Given the description of an element on the screen output the (x, y) to click on. 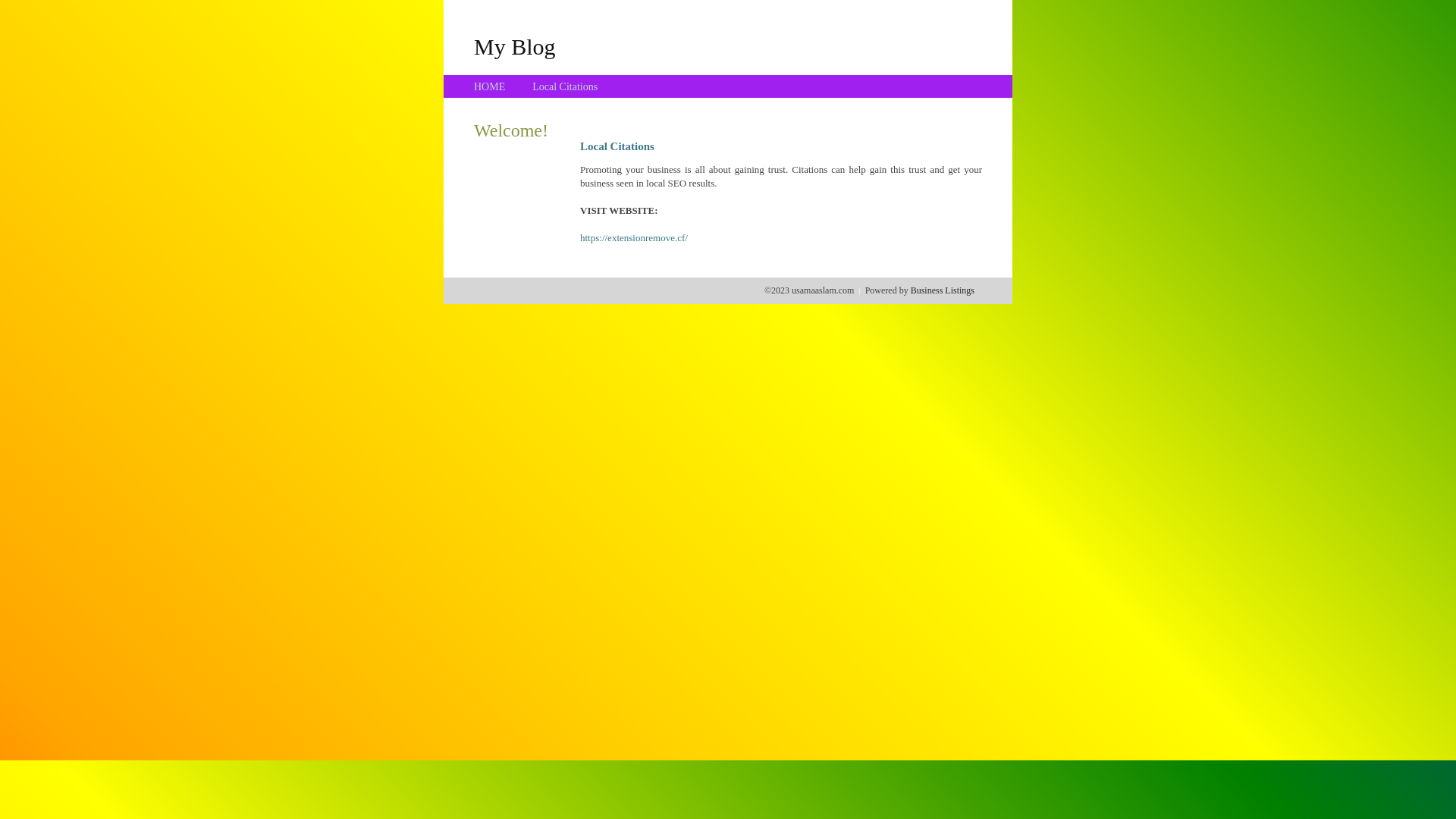
My Blog Element type: text (514, 46)
https://extensionremove.cf/ Element type: text (633, 237)
Local Citations Element type: text (564, 86)
HOME Element type: text (489, 86)
Business Listings Element type: text (942, 290)
